Given the description of an element on the screen output the (x, y) to click on. 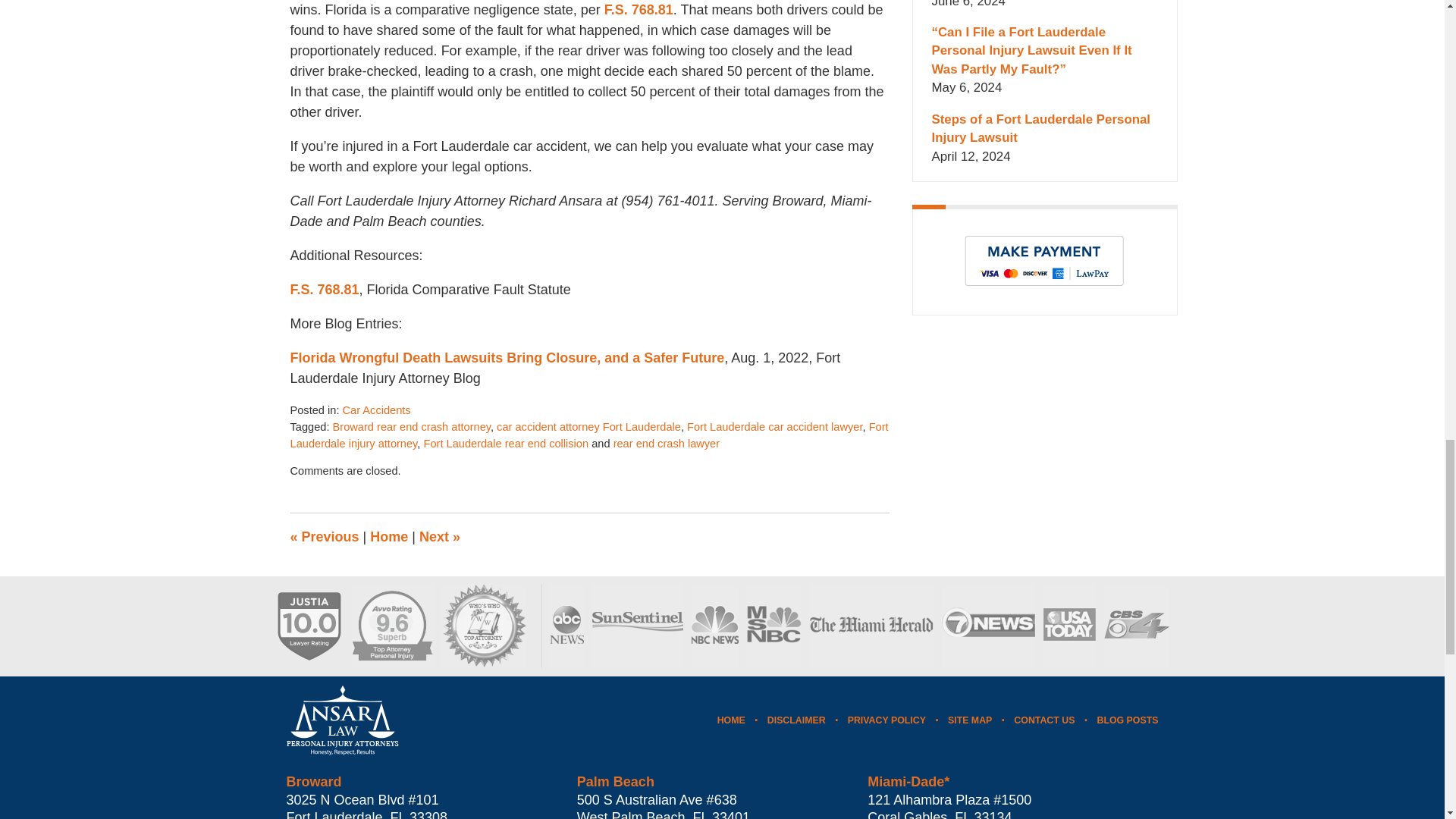
F.S. 768.81 (638, 9)
Fort Lauderdale car accident lawyer (774, 426)
View all posts tagged with rear end crash lawyer (665, 443)
Fort Lauderdale injury attorney (588, 434)
View all posts in Car Accidents (376, 410)
Car Accidents (376, 410)
